Given the description of an element on the screen output the (x, y) to click on. 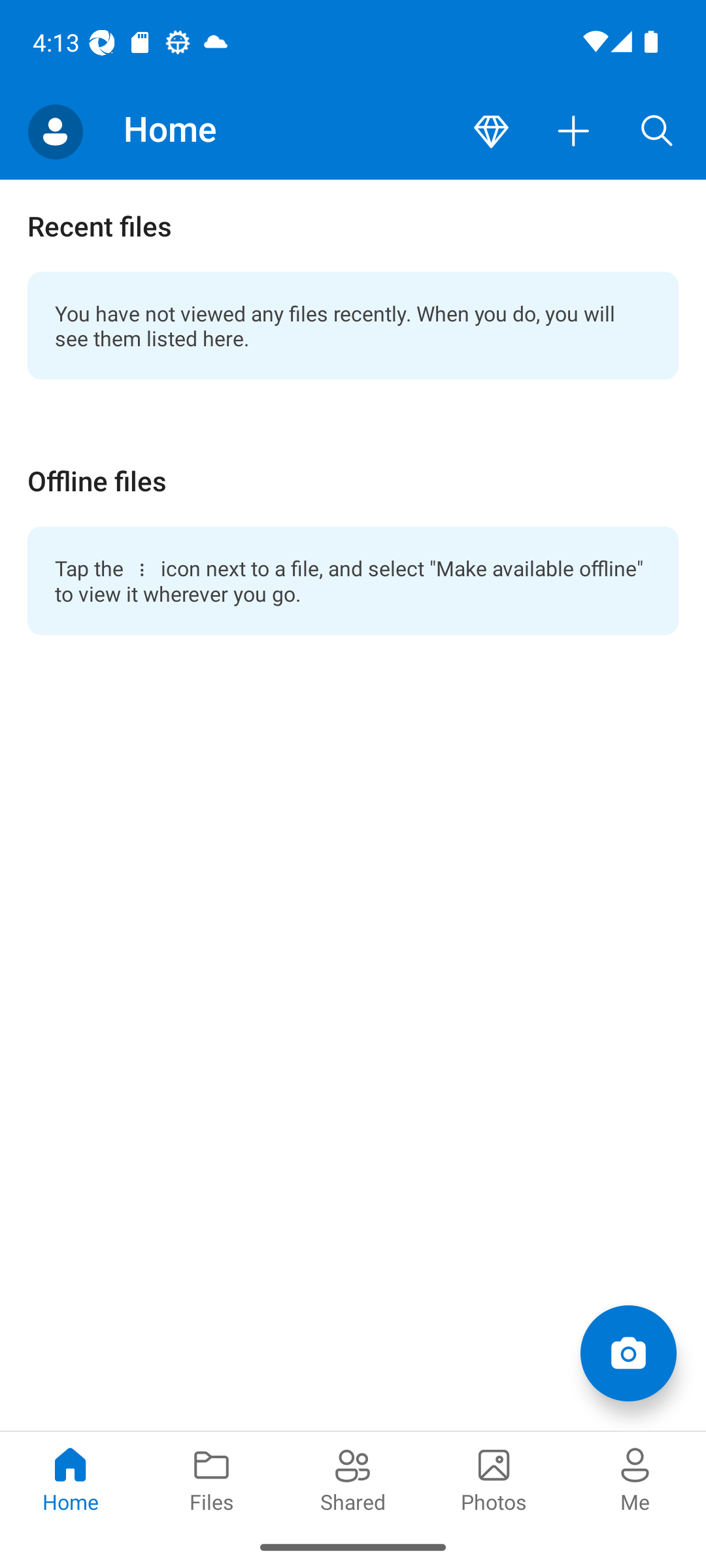
Account switcher (55, 131)
Premium button (491, 131)
More actions button (574, 131)
Search button (656, 131)
Scan (628, 1352)
Files pivot Files (211, 1478)
Shared pivot Shared (352, 1478)
Photos pivot Photos (493, 1478)
Me pivot Me (635, 1478)
